Given the description of an element on the screen output the (x, y) to click on. 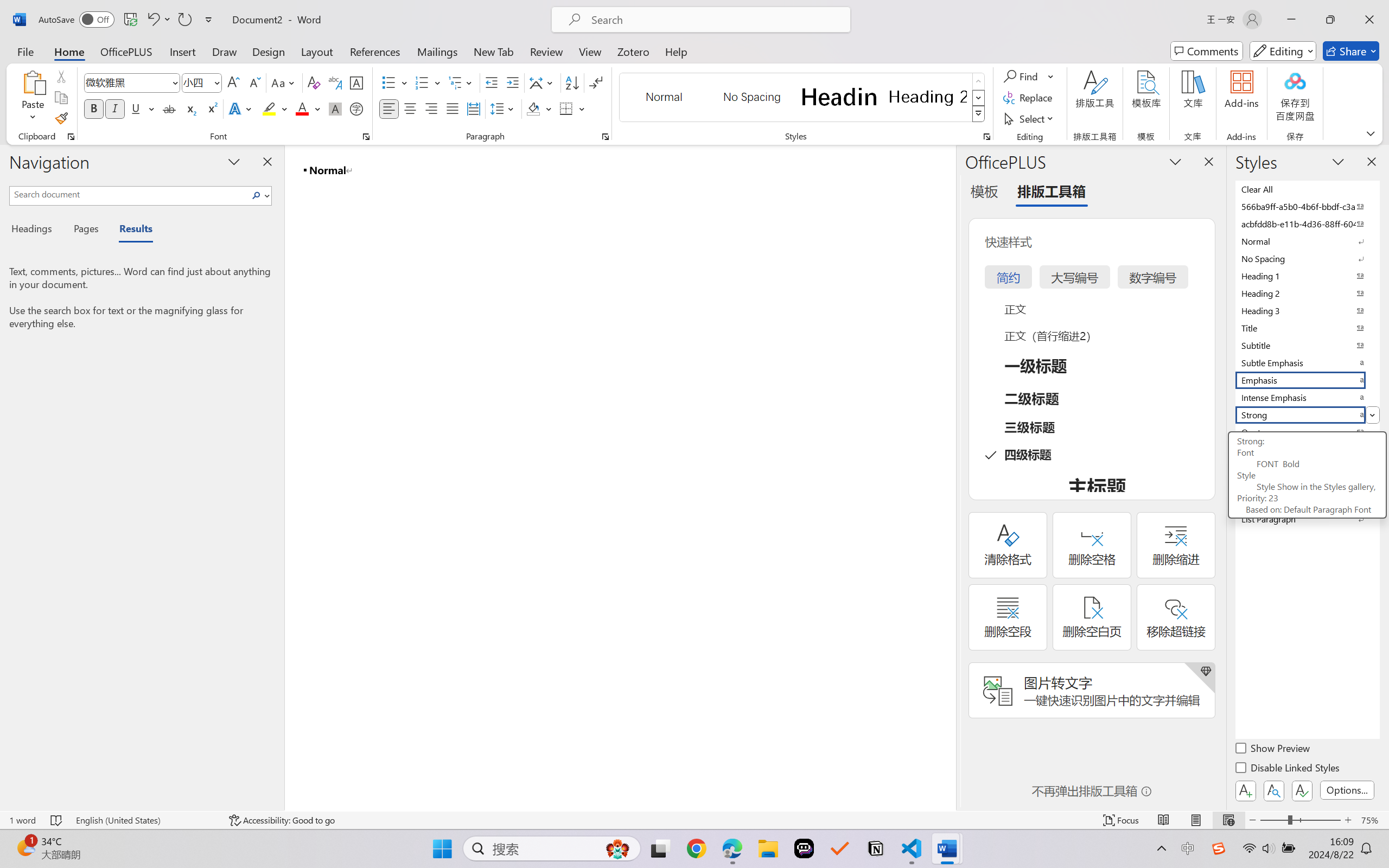
Bold (94, 108)
Superscript (210, 108)
Office Clipboard... (70, 136)
Clear All (1306, 188)
Font Size (196, 82)
Pages (85, 229)
Layout (316, 51)
Enclose Characters... (356, 108)
Font... (365, 136)
Character Border (356, 82)
Underline (142, 108)
Title (1306, 327)
